Given the description of an element on the screen output the (x, y) to click on. 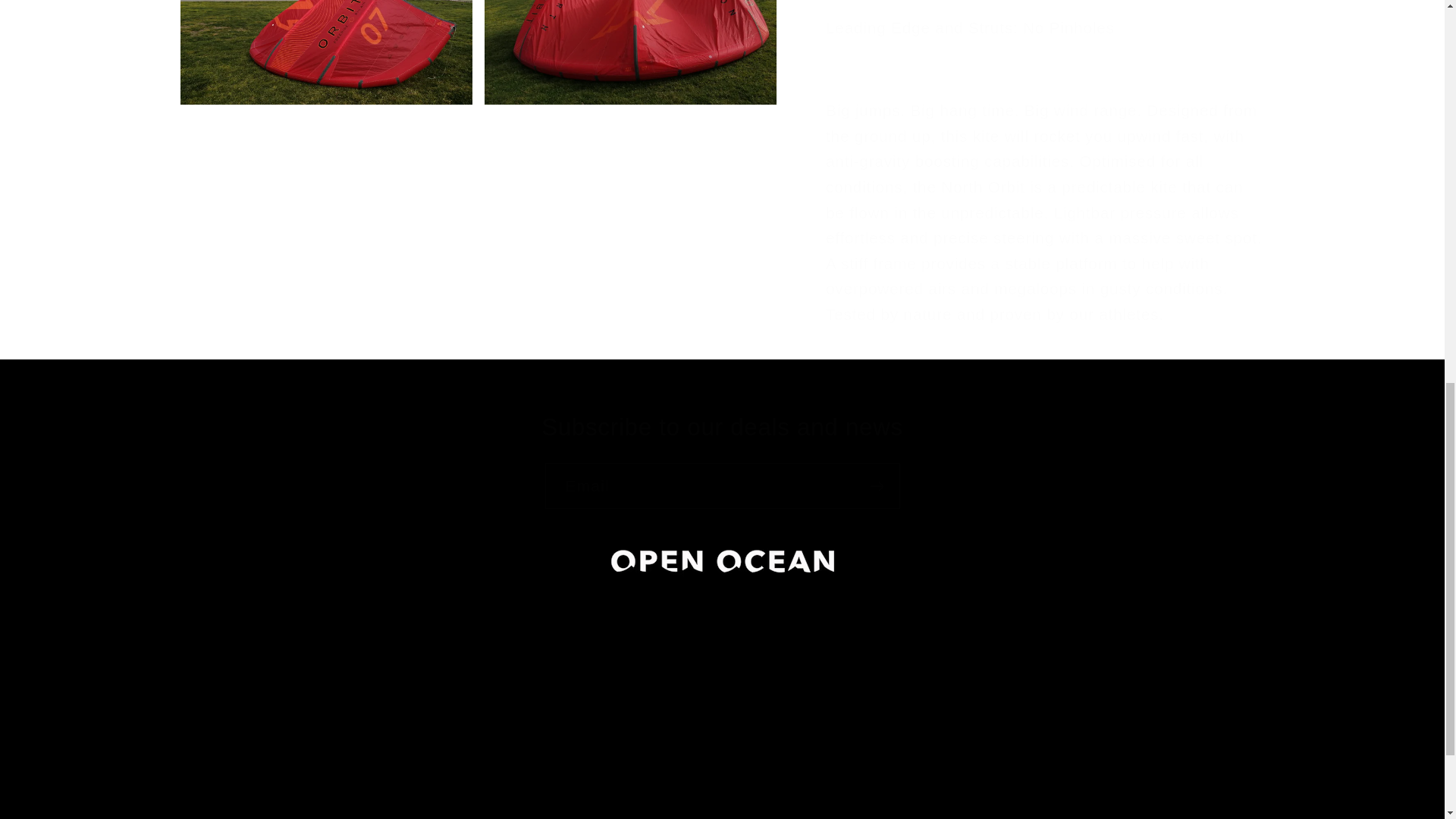
Open media 2 in modal (325, 52)
Email (721, 486)
Subscribe to our deals and news (721, 427)
Open media 3 in modal (630, 52)
